Given the description of an element on the screen output the (x, y) to click on. 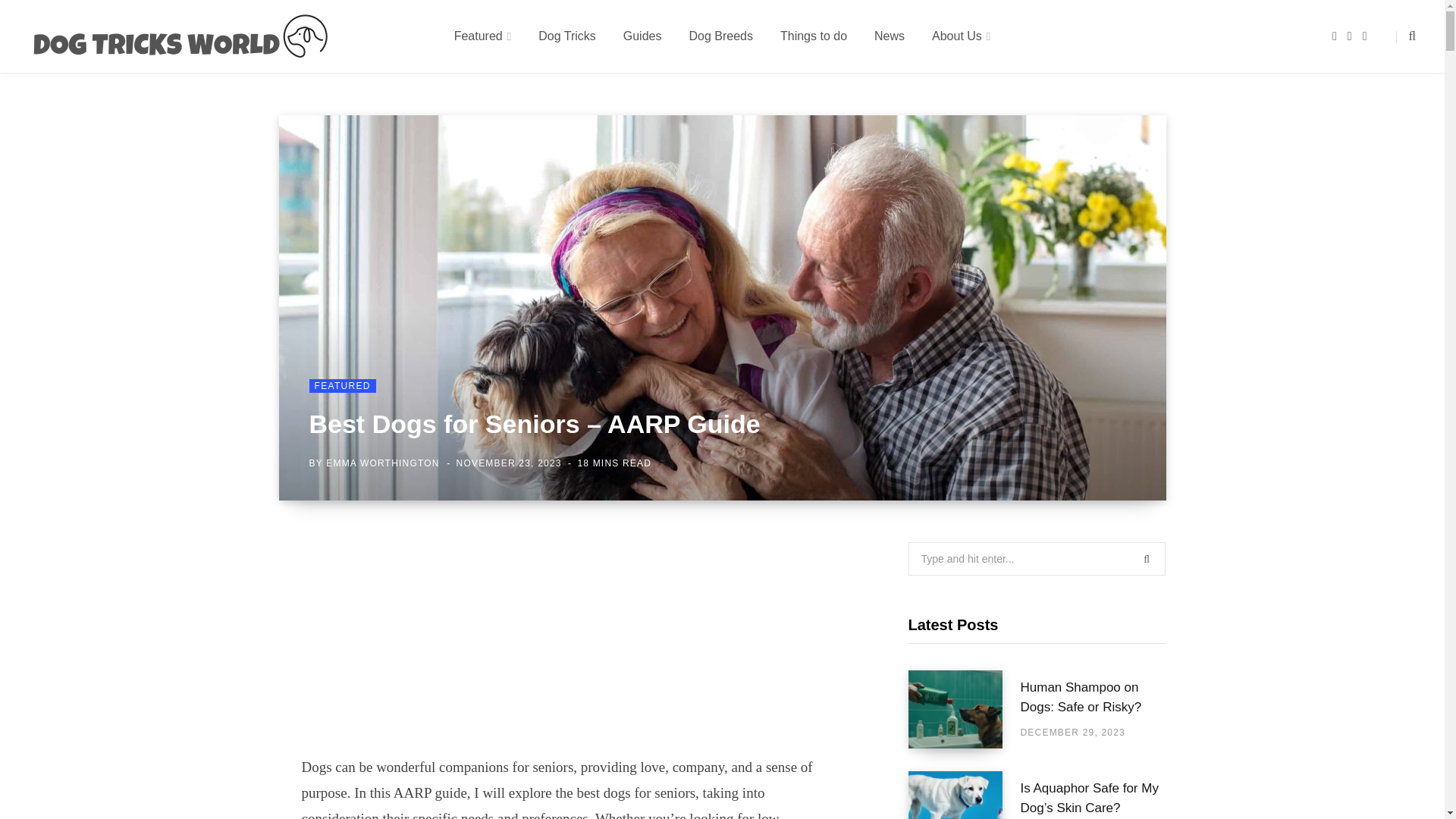
FEATURED (341, 386)
About Us (961, 36)
Dog Breeds (721, 36)
Guides (642, 36)
Dog Tricks (567, 36)
Dog Tricks World (180, 36)
Advertisement (570, 648)
EMMA WORTHINGTON (382, 462)
Posts by Emma Worthington (382, 462)
Featured (483, 36)
